Given the description of an element on the screen output the (x, y) to click on. 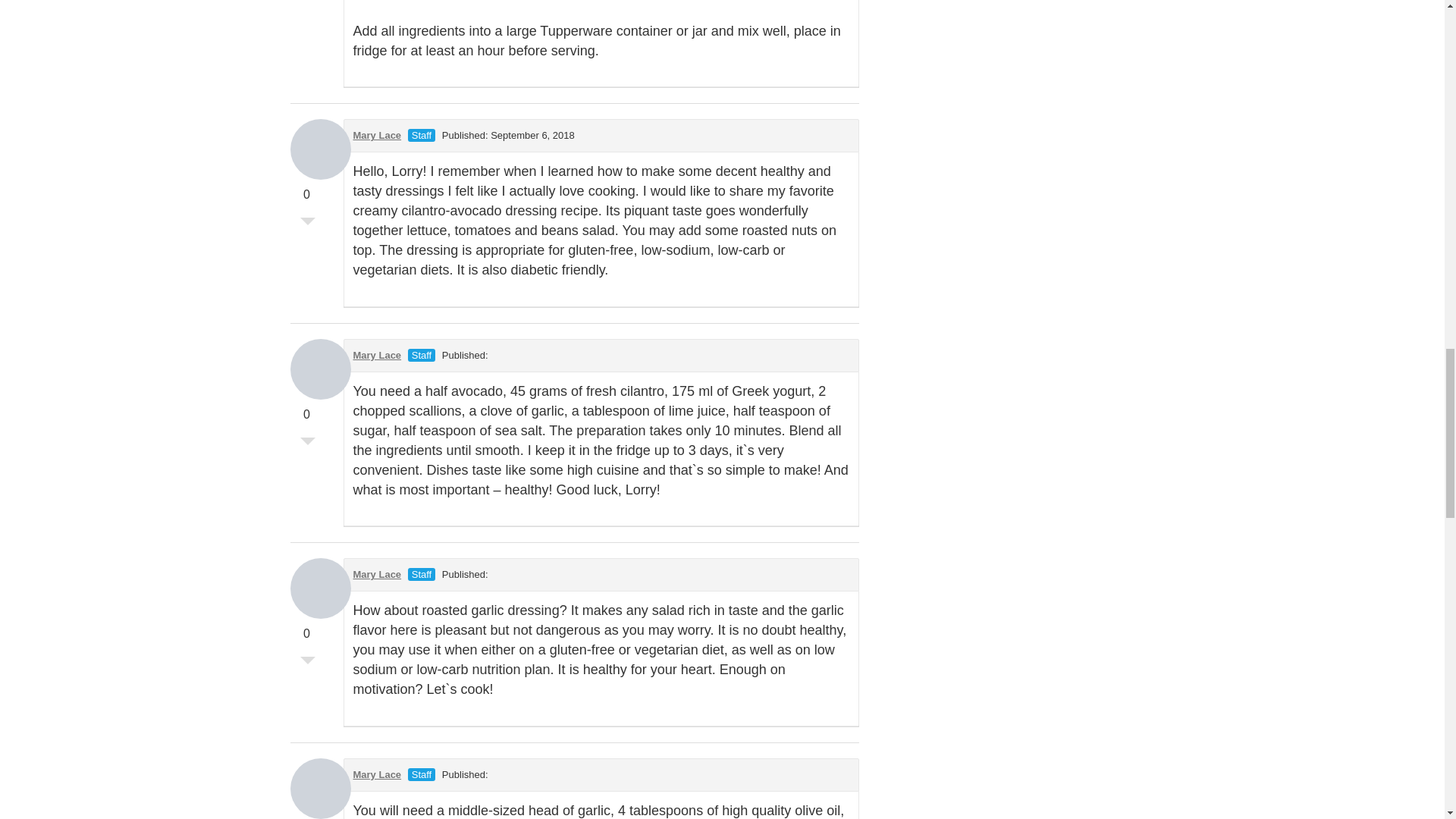
Vote Down (307, 444)
Mary Lace (377, 134)
Vote Up (307, 164)
Vote Up (307, 384)
Vote Down (307, 224)
